Given the description of an element on the screen output the (x, y) to click on. 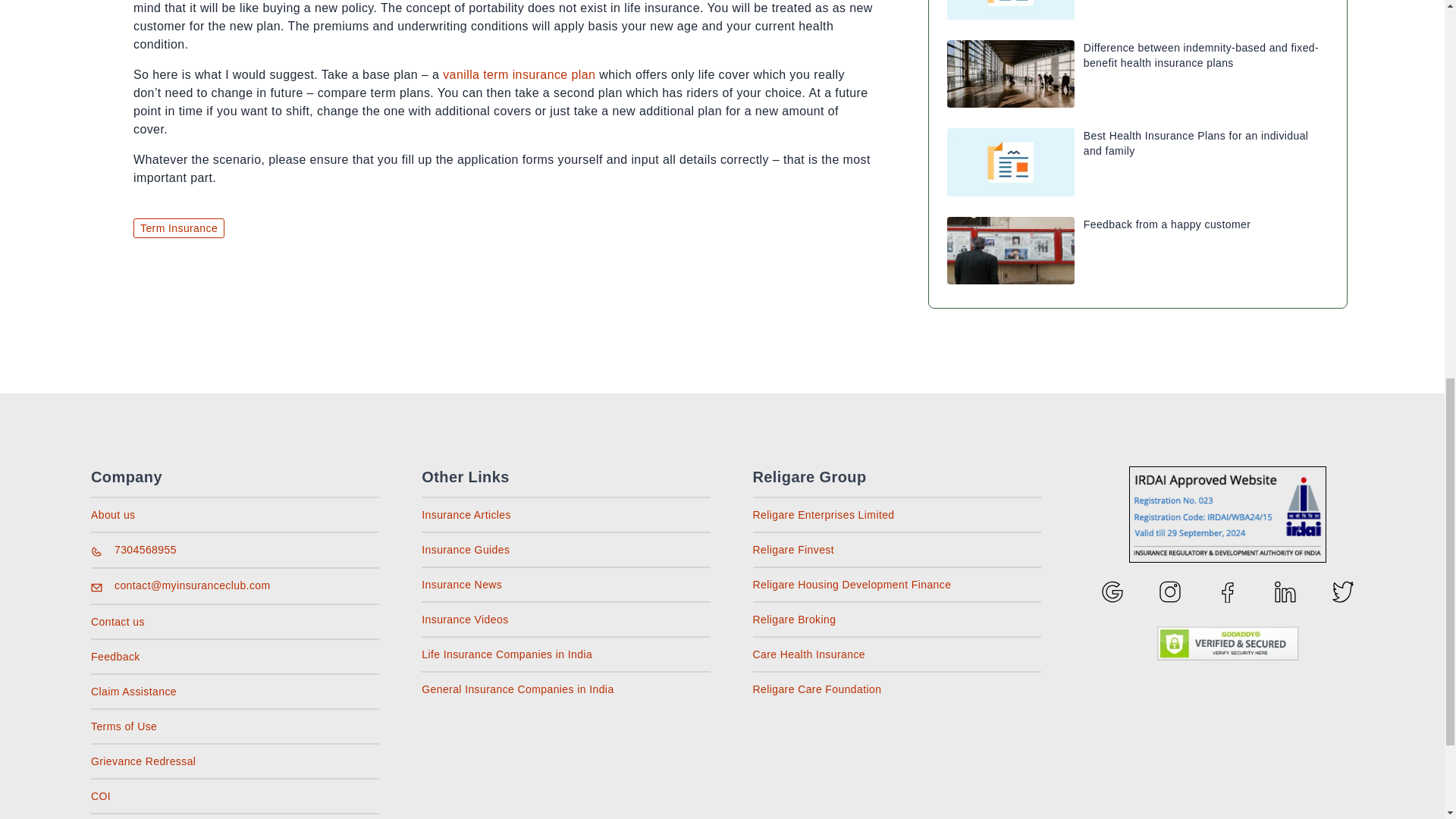
COI (100, 796)
Religare Finvest (793, 549)
Claim Assistance (133, 691)
Life Insurance Companies in India (507, 654)
7304568955 (145, 549)
vanilla term insurance plan (518, 74)
Religare Housing Development Finance (851, 584)
Get the Best Term Insurance Plans (518, 74)
About us (112, 514)
Care Health Insurance (808, 654)
